Given the description of an element on the screen output the (x, y) to click on. 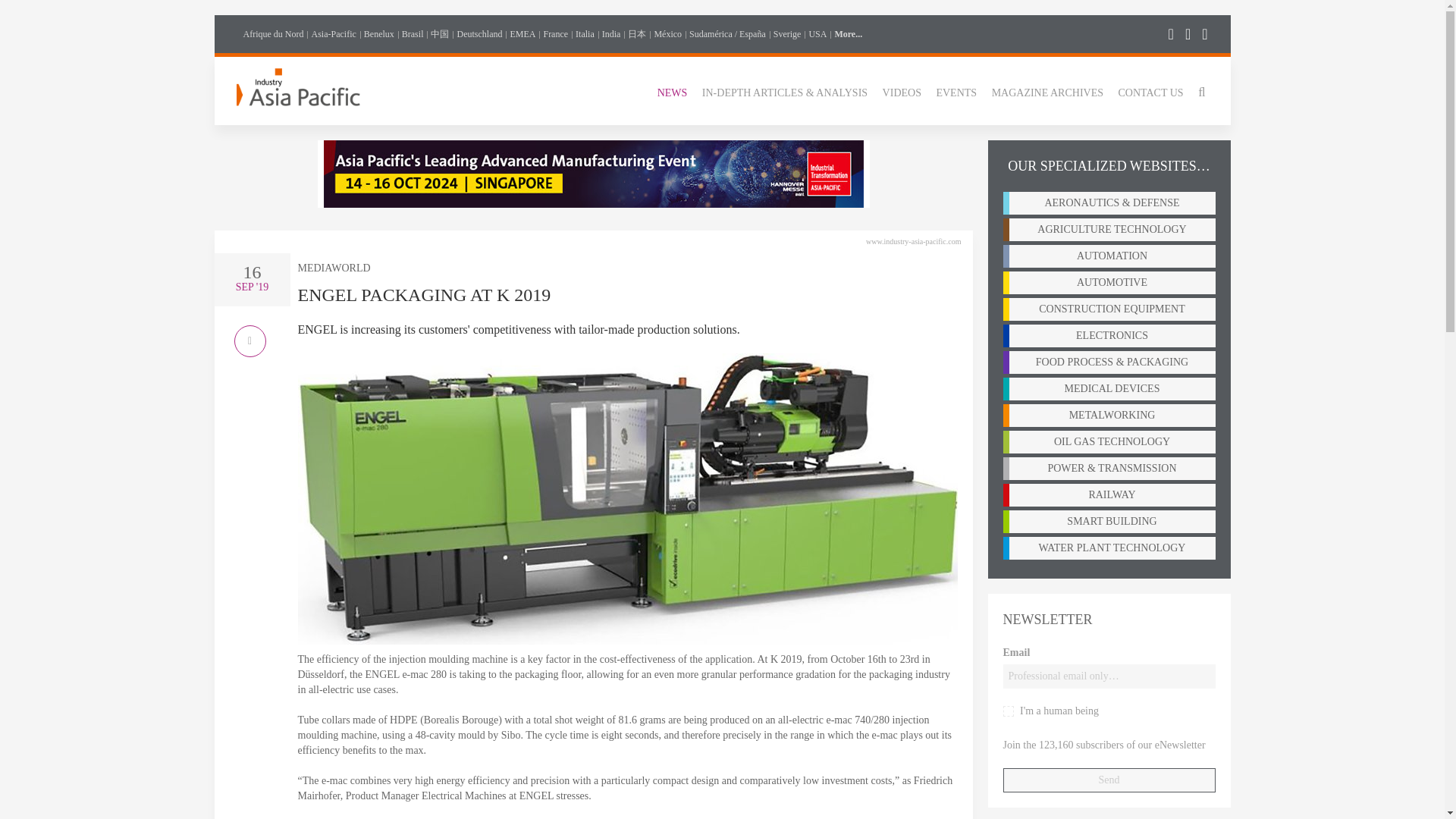
Italia (584, 33)
EMEA (522, 33)
Deutschland (479, 33)
France (555, 33)
NEWS (672, 90)
More... (847, 33)
Asia-Pacific (333, 33)
USA (817, 33)
Benelux (379, 33)
Brasil (412, 33)
India (611, 33)
Sverige (787, 33)
Afrique du Nord (272, 33)
